Given the description of an element on the screen output the (x, y) to click on. 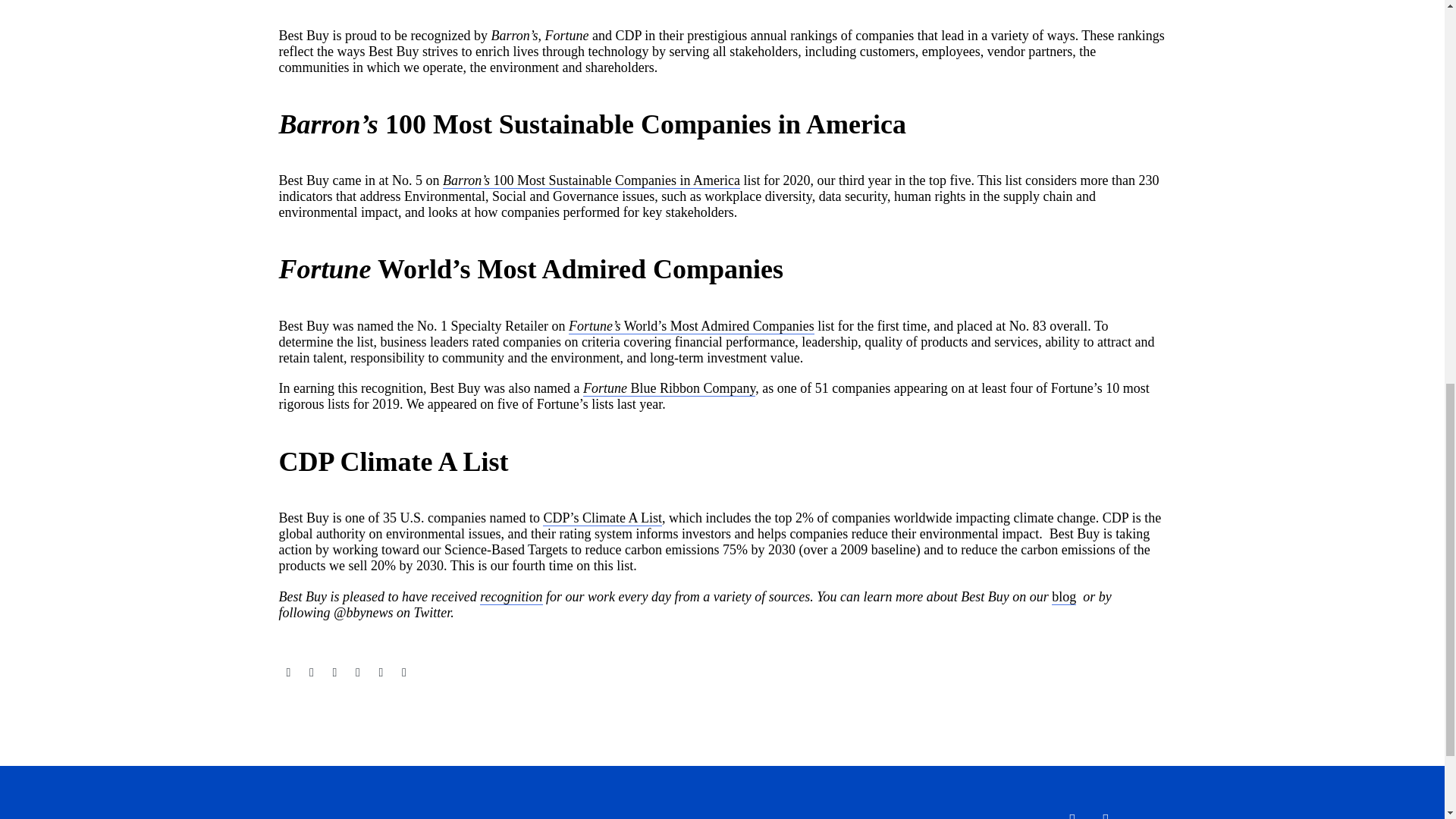
LinkedIn (380, 672)
Fortune Blue Ribbon Company (669, 388)
Reddit (403, 672)
Twitter (311, 672)
Tumblr (358, 672)
blog (1063, 596)
Pinterest (334, 672)
Facebook (288, 672)
recognition (510, 596)
